Given the description of an element on the screen output the (x, y) to click on. 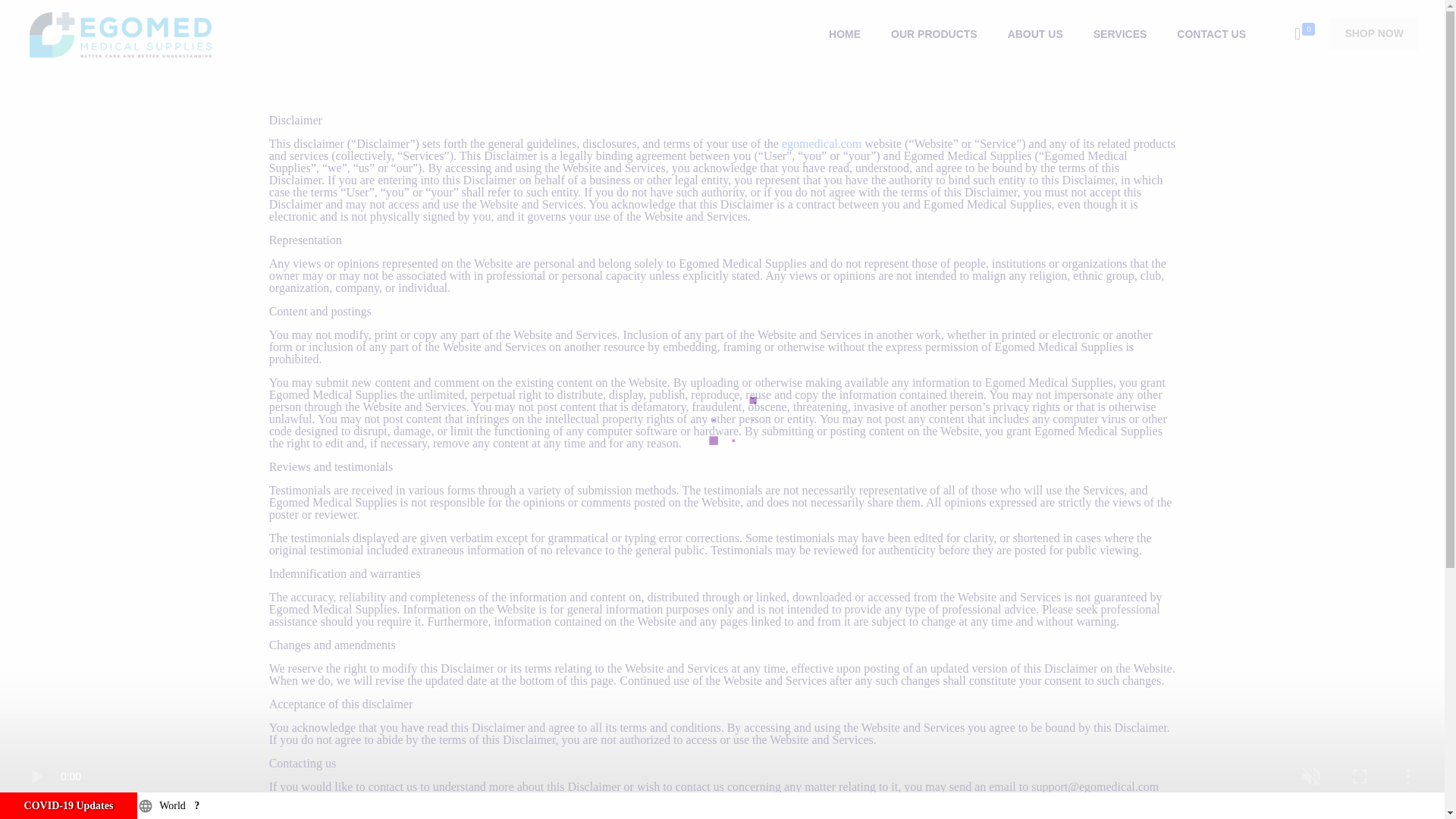
HOME (844, 33)
OUR PRODUCTS (934, 33)
SHOP NOW (1373, 33)
CONTACT US (1210, 33)
Egomed Medical (120, 33)
egomedical.com (821, 143)
ABOUT US (1035, 33)
SERVICES (1119, 33)
0 (1303, 34)
